Given the description of an element on the screen output the (x, y) to click on. 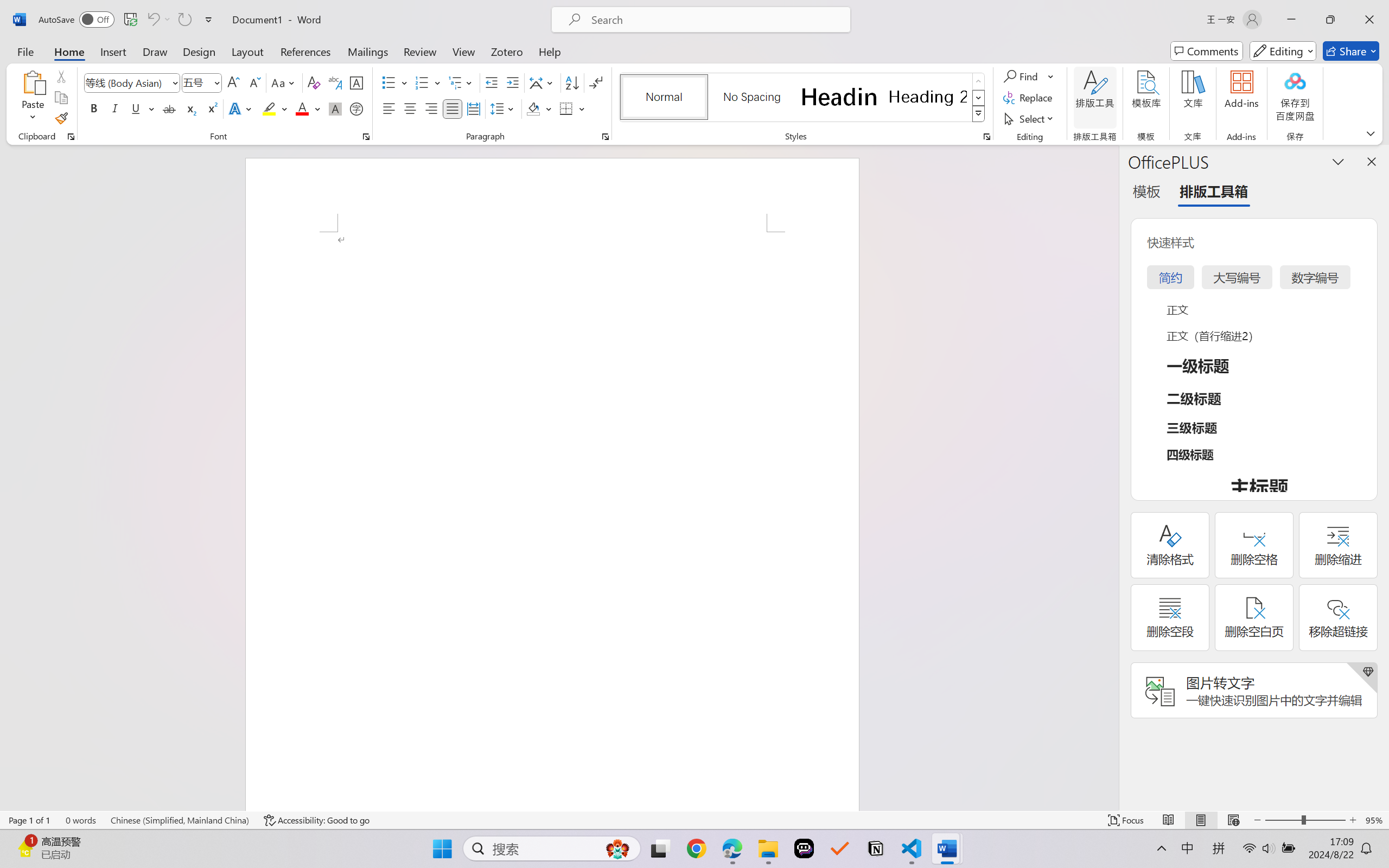
Microsoft search (715, 19)
